Given the description of an element on the screen output the (x, y) to click on. 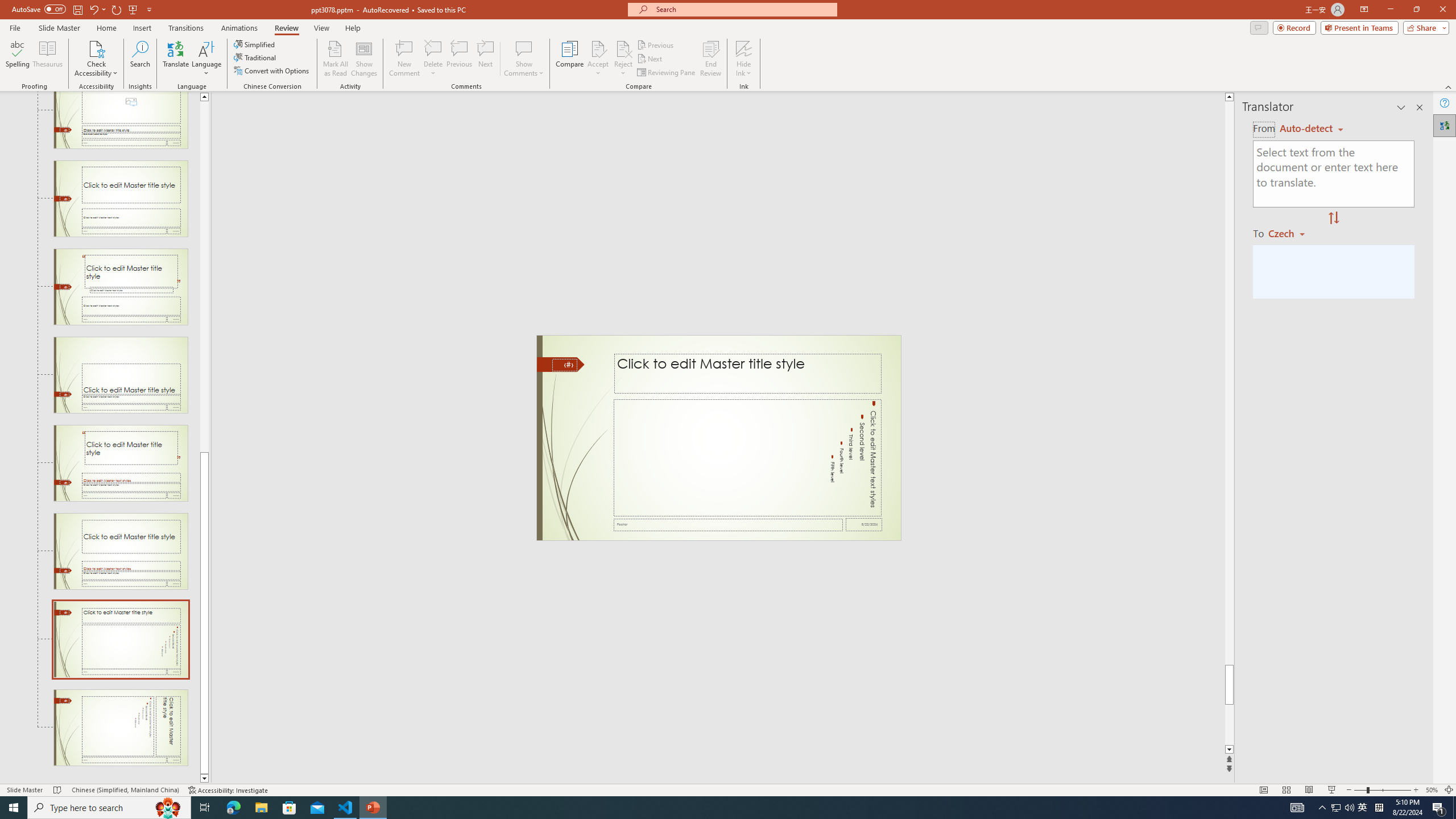
Slide Master (59, 28)
